Given the description of an element on the screen output the (x, y) to click on. 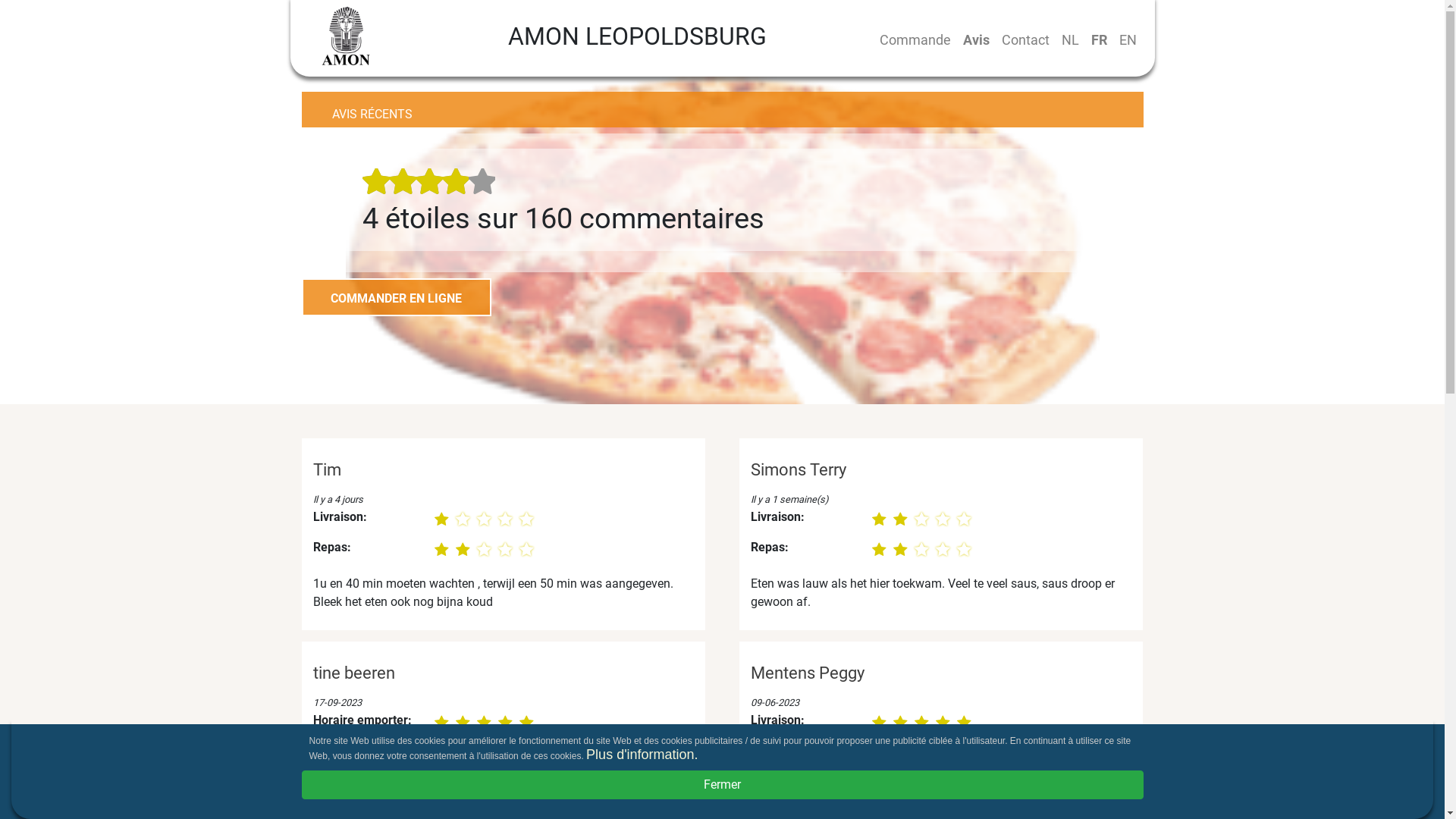
Commande Element type: text (915, 39)
NL Element type: text (1070, 39)
FR Element type: text (1098, 39)
Contact Element type: text (1024, 39)
Plus d'information. Element type: text (642, 754)
EN Element type: text (1127, 39)
Fermer Element type: text (722, 784)
Avis Element type: text (976, 39)
COMMANDER EN LIGNE Element type: text (396, 297)
